Given the description of an element on the screen output the (x, y) to click on. 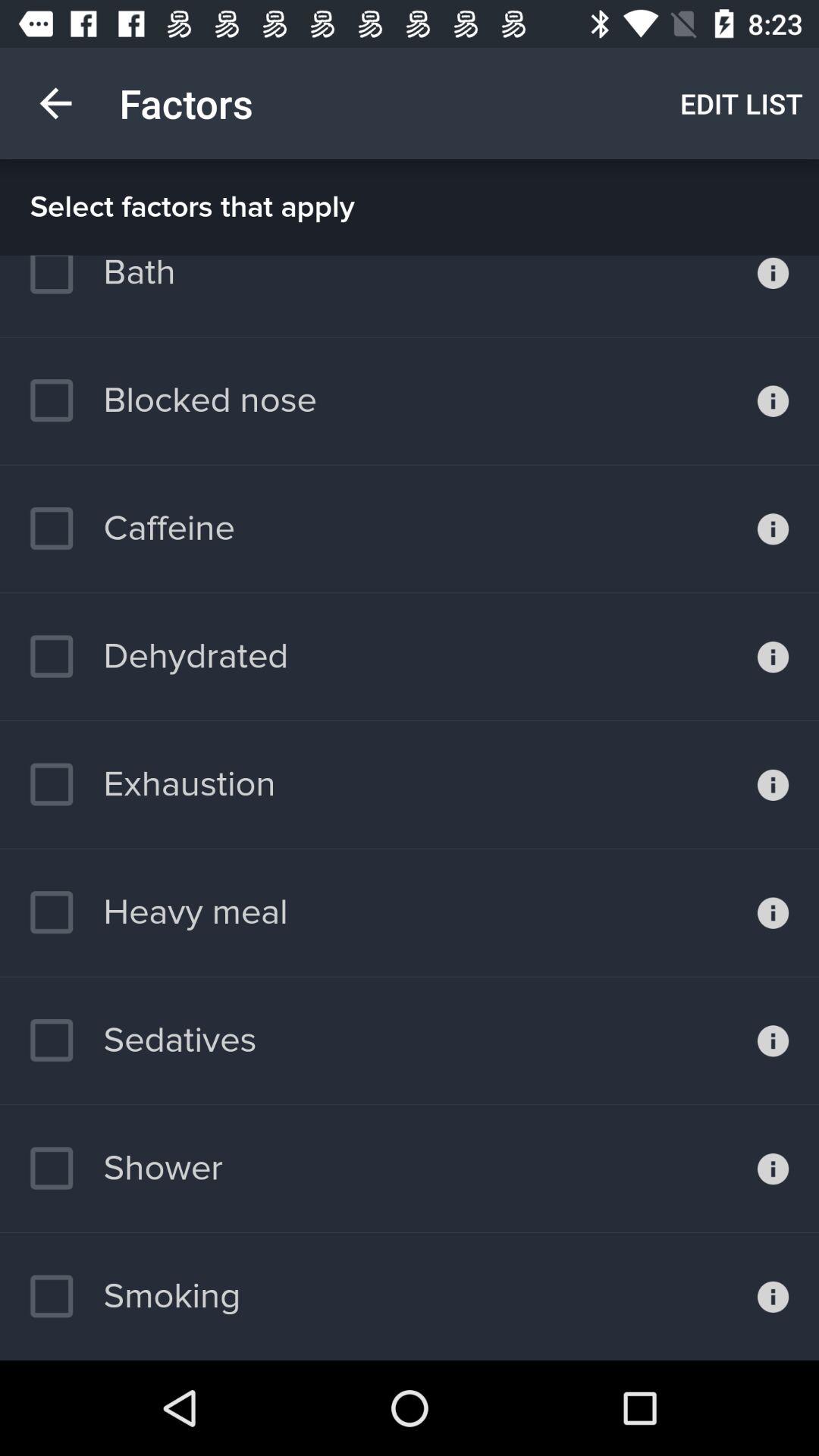
get information about coffeine (773, 528)
